Given the description of an element on the screen output the (x, y) to click on. 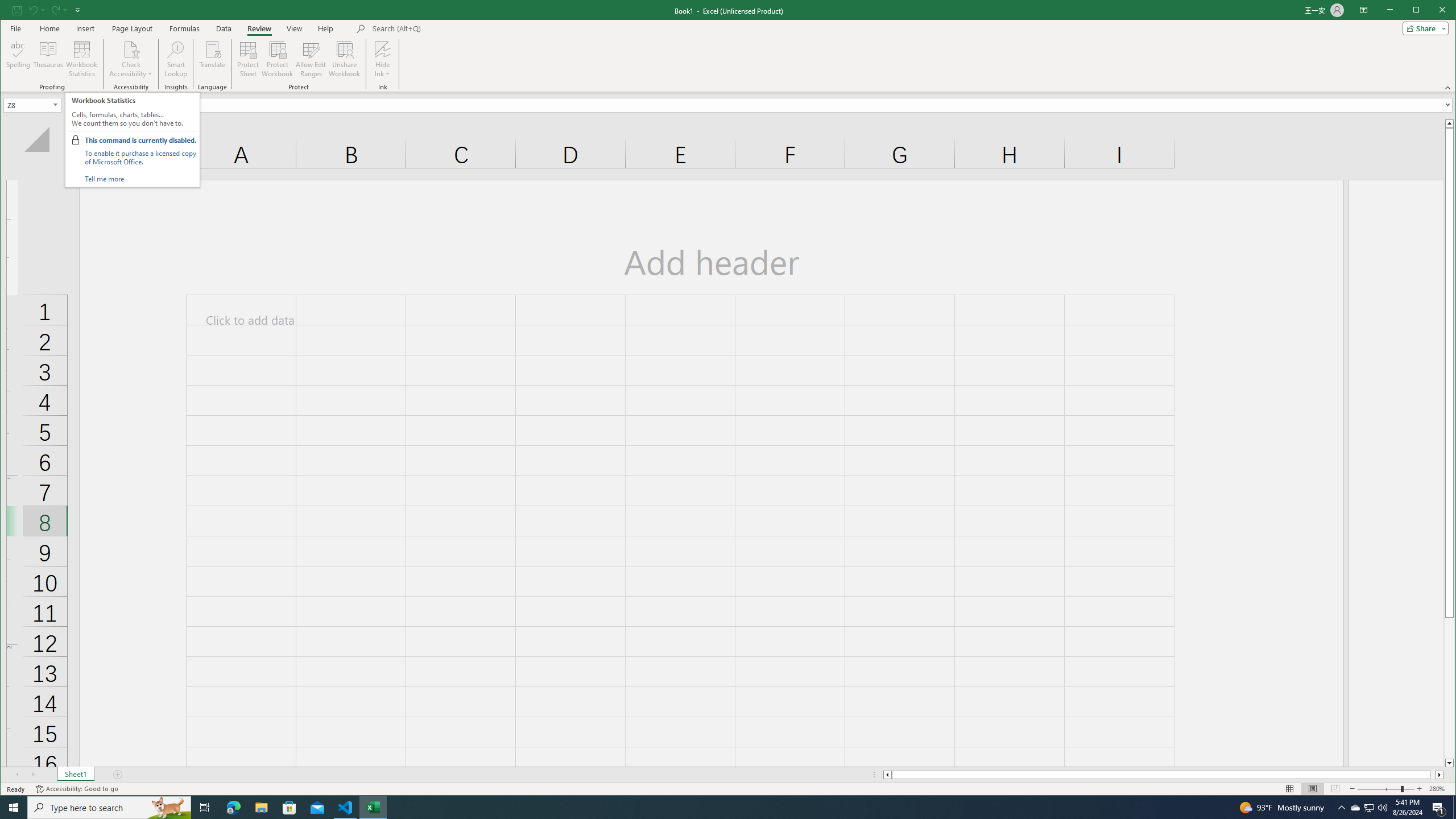
Formulas (184, 28)
Microsoft Store (289, 807)
More Options (382, 69)
Hide Ink (382, 48)
Normal (1289, 788)
Scroll Left (18, 774)
Thesaurus... (48, 59)
Customize Quick Access Toolbar (77, 9)
Microsoft search (451, 28)
Page right (1432, 774)
Check Accessibility (130, 59)
Zoom In (1419, 788)
